Given the description of an element on the screen output the (x, y) to click on. 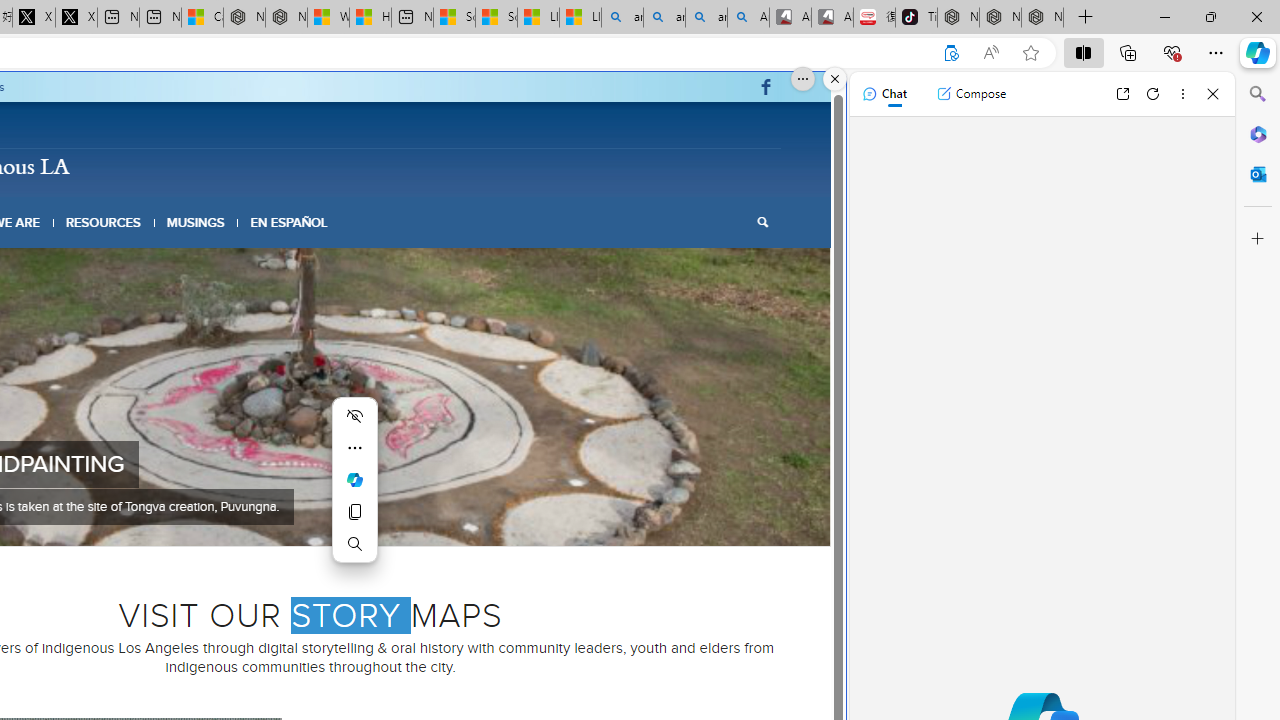
All Cubot phones (831, 17)
Mini menu on text selection (354, 491)
Close split screen. (835, 79)
4 (301, 520)
X (76, 17)
MUSINGS (195, 222)
Nordace - Best Sellers (958, 17)
Nordace Siena Pro 15 Backpack (1000, 17)
Ask Copilot (354, 479)
3 (286, 520)
Customize (1258, 239)
Huge shark washes ashore at New York City beach | Watch (369, 17)
